Given the description of an element on the screen output the (x, y) to click on. 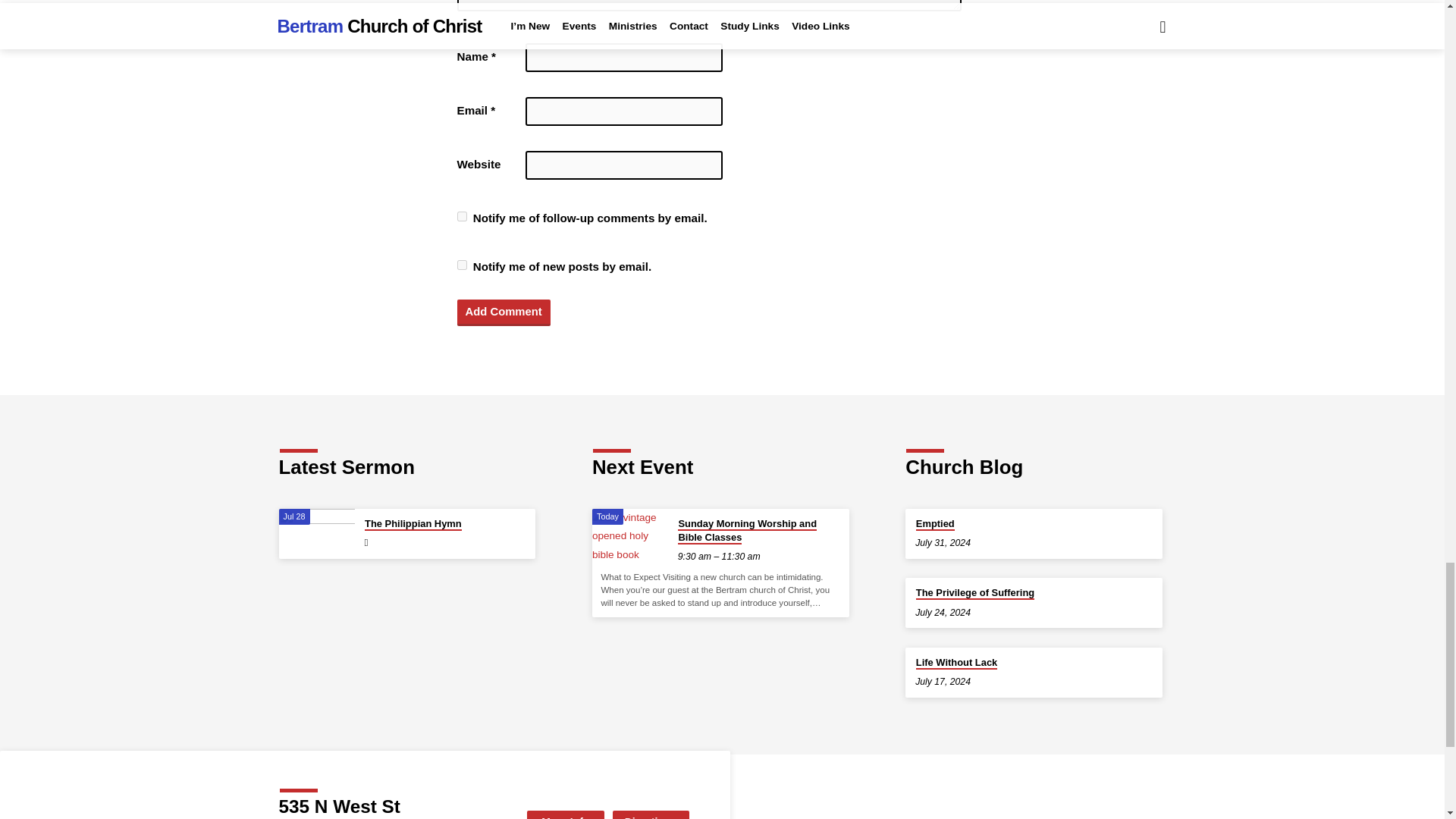
subscribe (461, 216)
subscribe (461, 265)
Add Comment (503, 312)
